Given the description of an element on the screen output the (x, y) to click on. 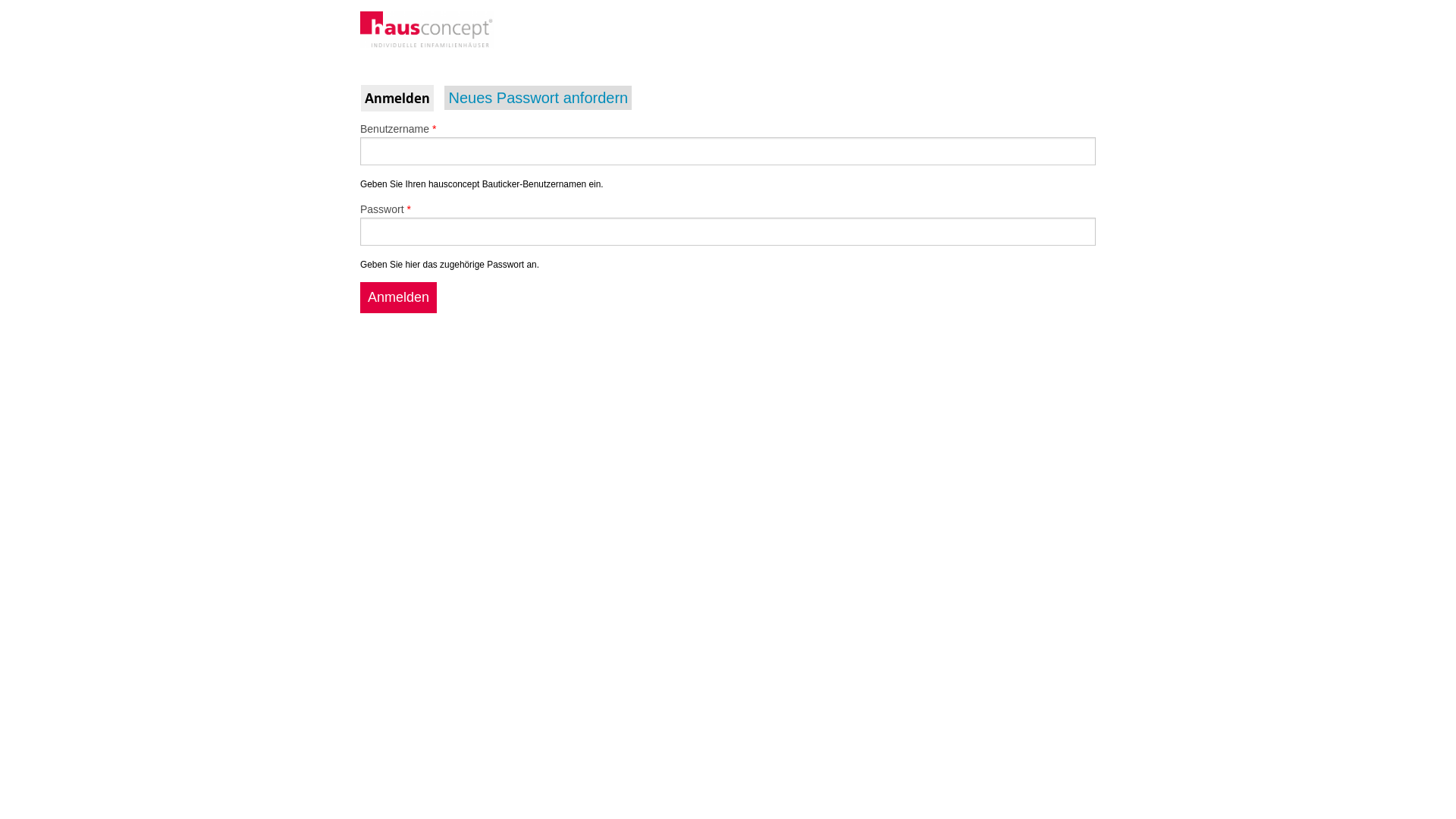
Direkt zum Inhalt Element type: text (45, 0)
Neues Passwort anfordern Element type: text (537, 97)
Anmelden Element type: text (398, 297)
Anmelden
(aktiver Reiter) Element type: text (396, 97)
Startseite Element type: hover (426, 28)
